Given the description of an element on the screen output the (x, y) to click on. 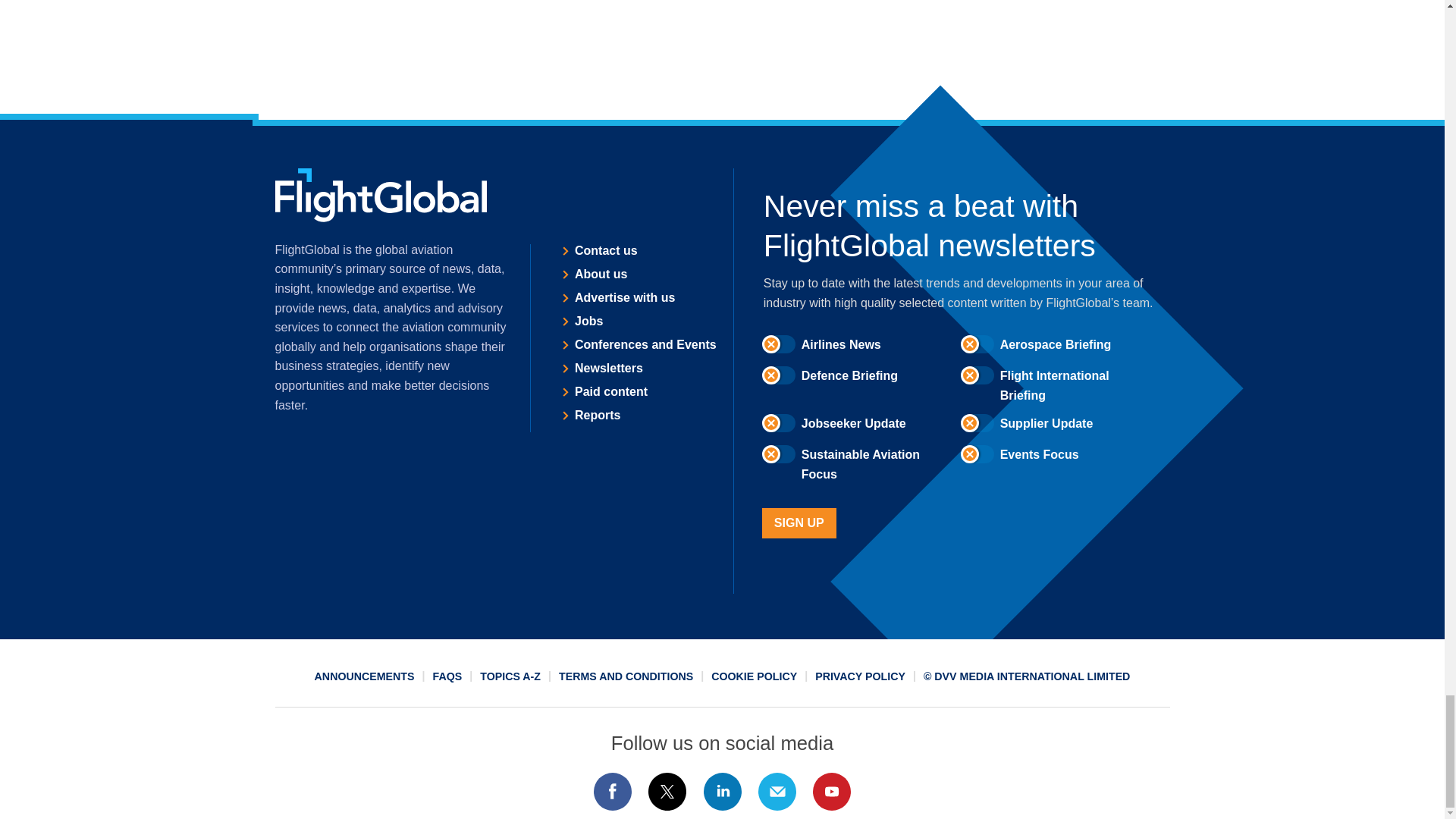
Email us (776, 791)
Connect with us on Facebook (611, 791)
Connect with us on Youtube (831, 791)
